Given the description of an element on the screen output the (x, y) to click on. 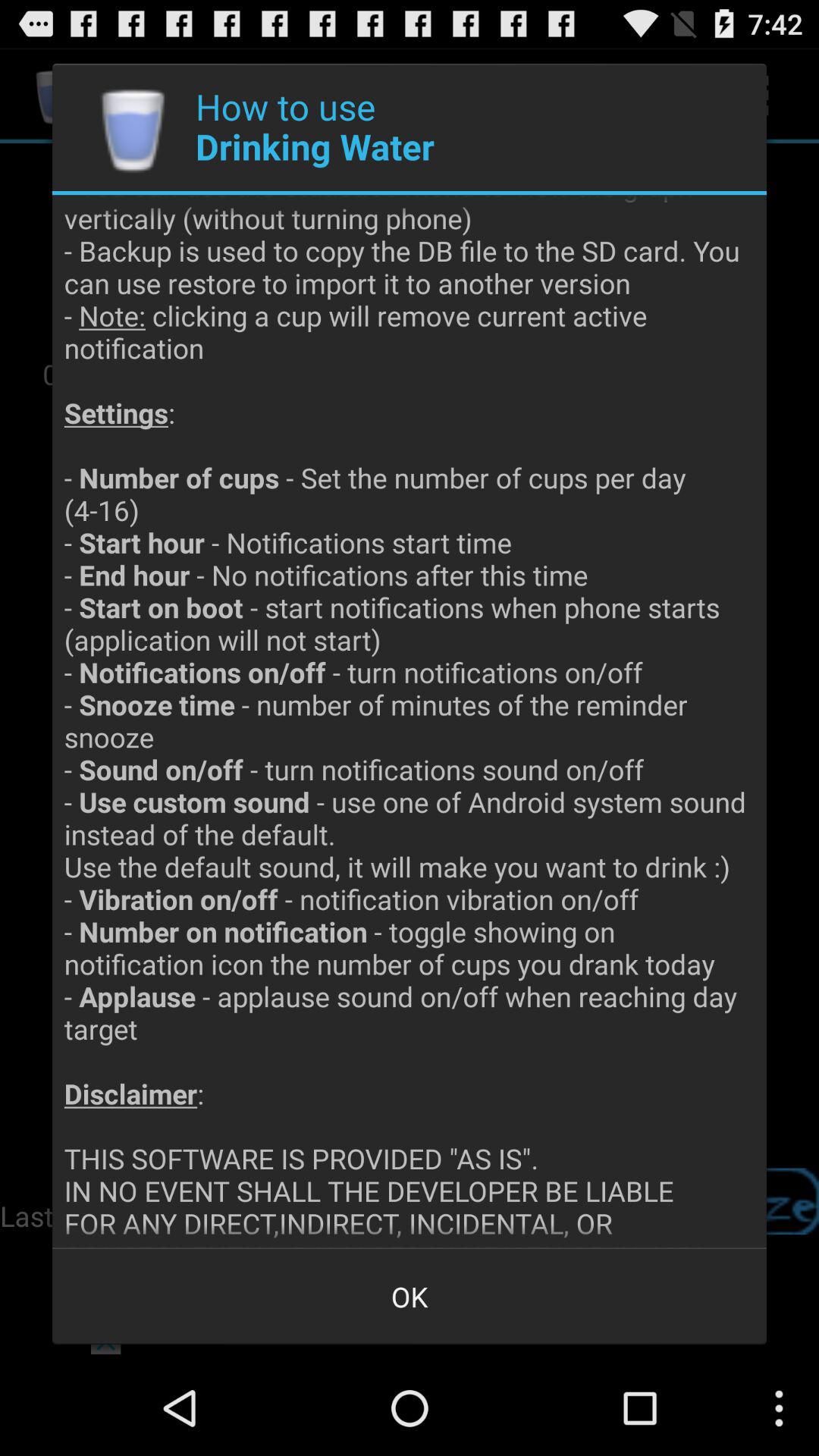
click the ok (409, 1296)
